Given the description of an element on the screen output the (x, y) to click on. 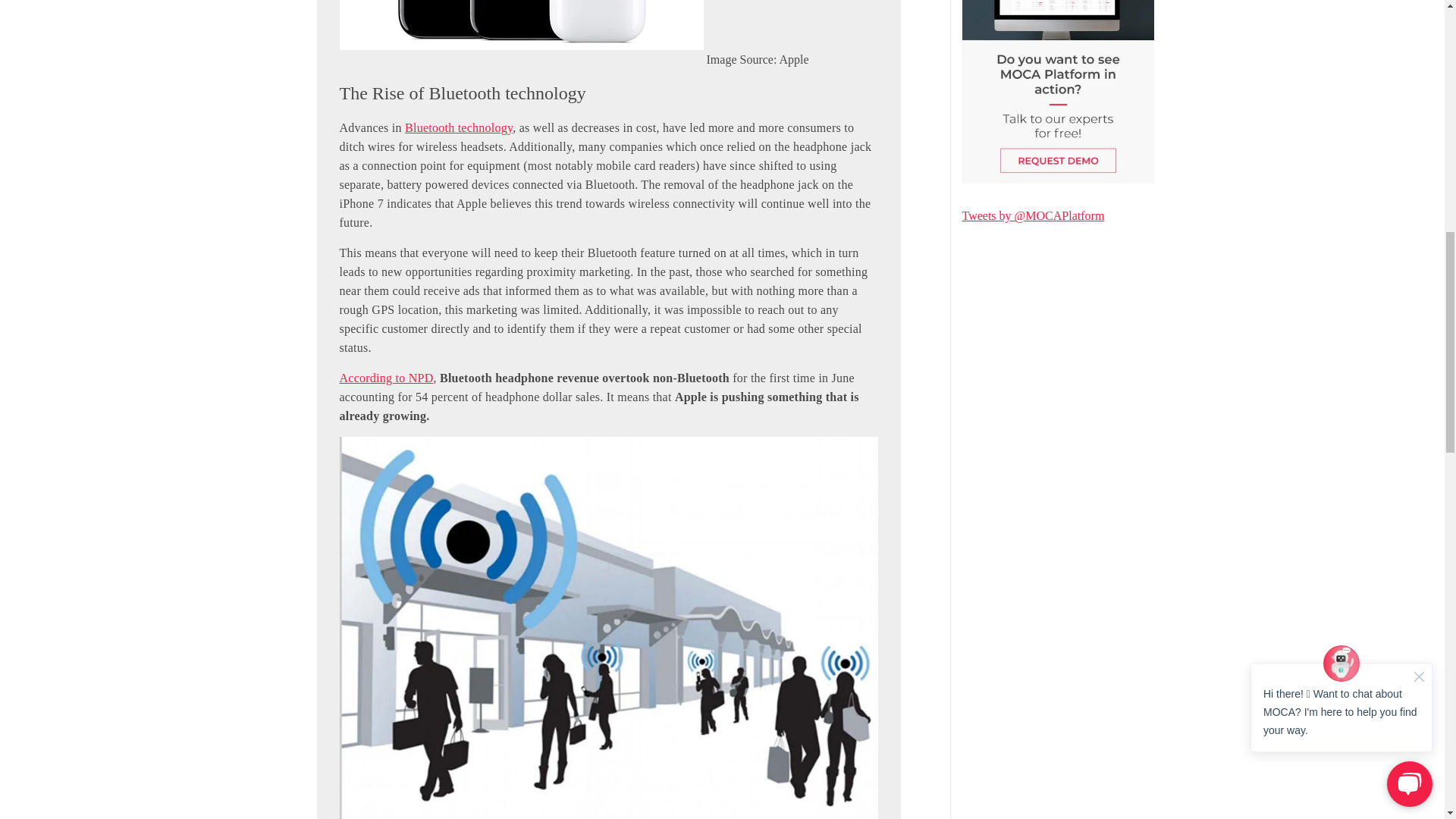
vertical-banner-request-demo- (1057, 92)
According to NPD (386, 377)
Bluetooth technology (458, 127)
